Given the description of an element on the screen output the (x, y) to click on. 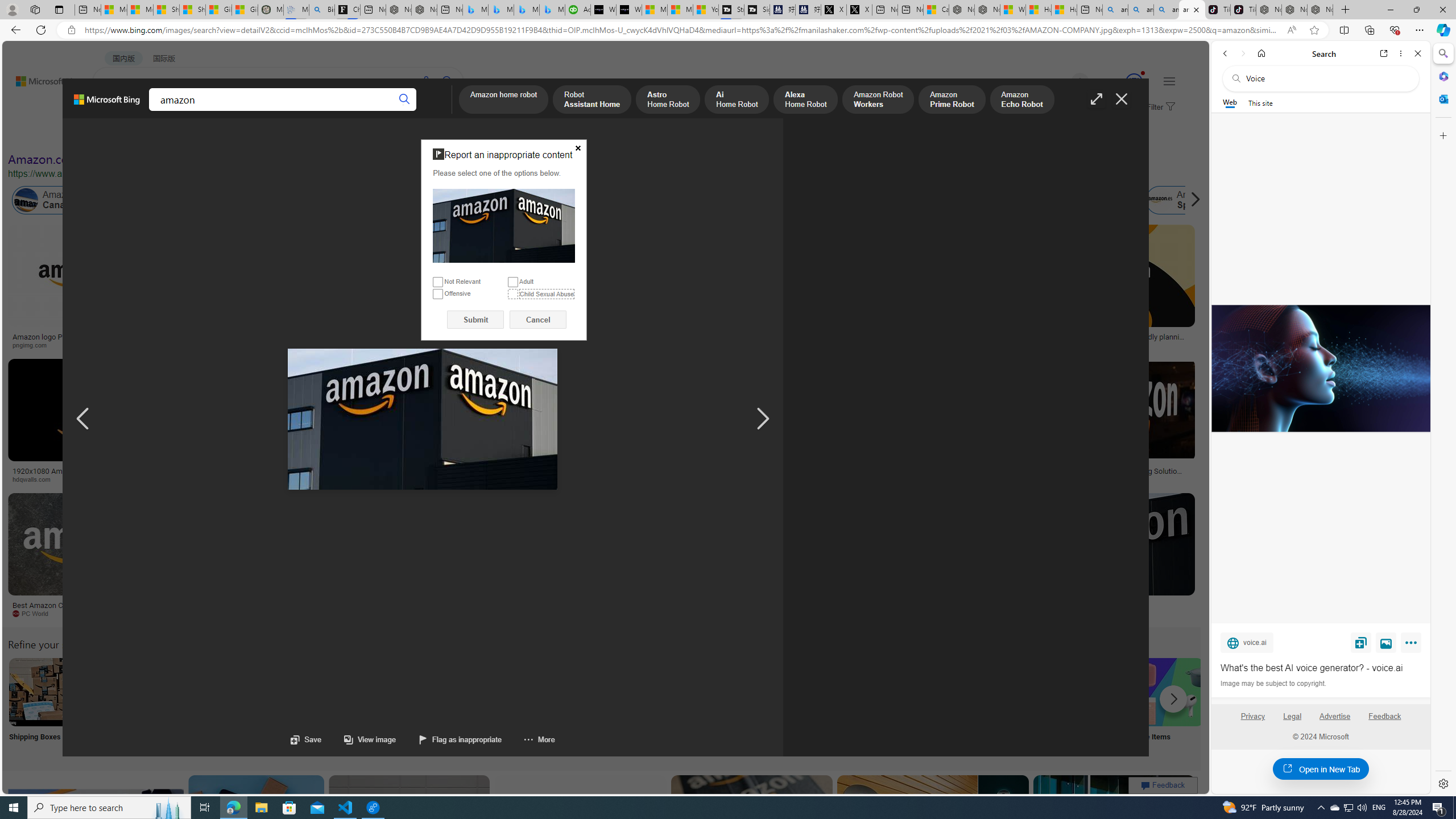
usatoday.com (334, 344)
Clip Art (192, 706)
hdqwalls.com (96, 479)
Amazon Cloud (344, 199)
This site scope (1259, 102)
Filter (1158, 107)
Ai Home Robot (737, 100)
Amazon Log into My Account Log into My Account (268, 706)
